Given the description of an element on the screen output the (x, y) to click on. 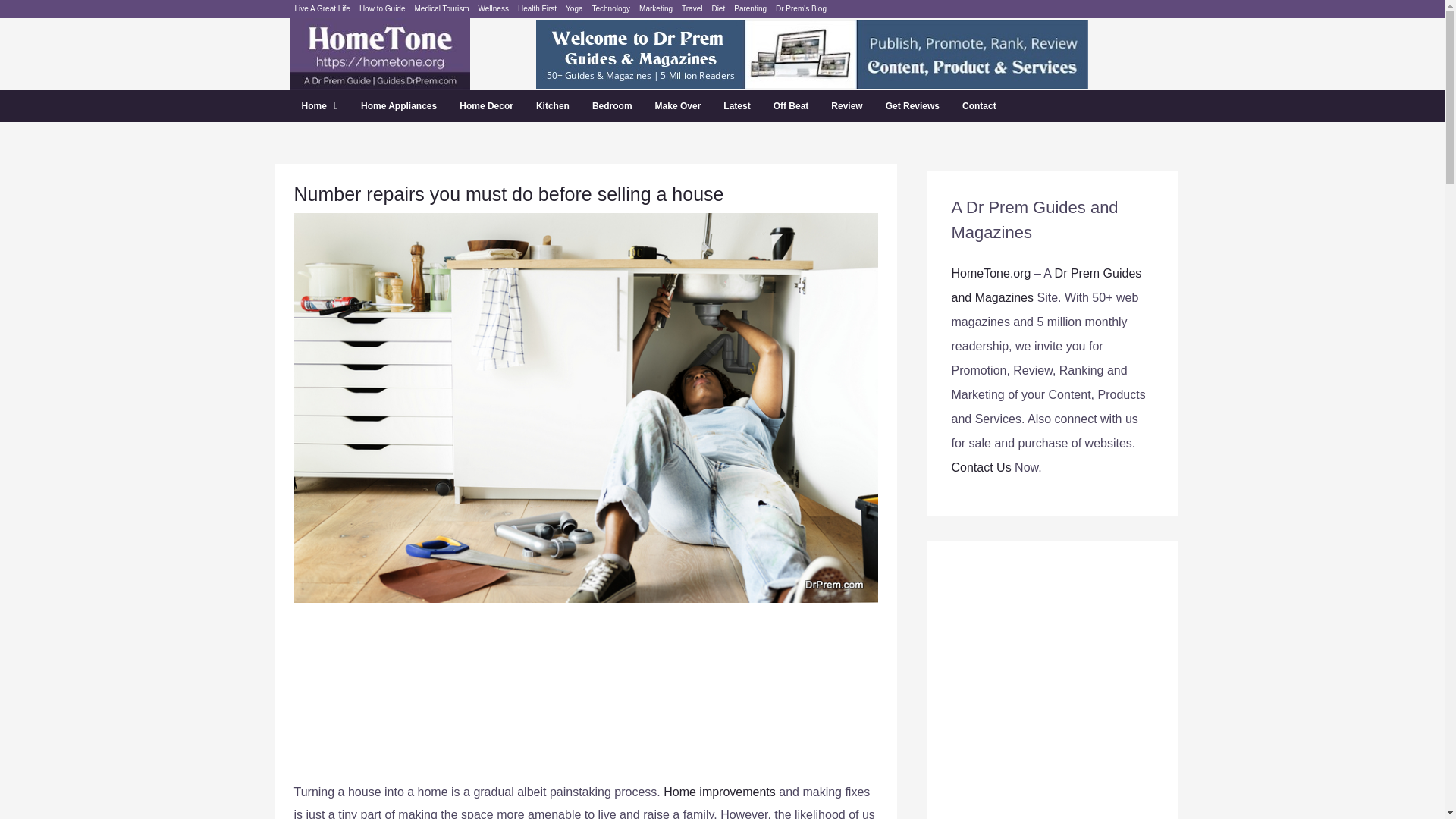
Make Over (678, 106)
HomeTone.org (990, 273)
Diet (717, 9)
Travel (691, 9)
Get Reviews (912, 106)
Bedroom (611, 106)
How to Guide (382, 9)
Medical Tourism (441, 9)
Marketing (655, 9)
Parenting (750, 9)
Dr Prem's Blog (801, 9)
Home (319, 106)
Wellness (493, 9)
Dr Prem Guides and Magazines (1045, 284)
Advertisement (585, 700)
